Given the description of an element on the screen output the (x, y) to click on. 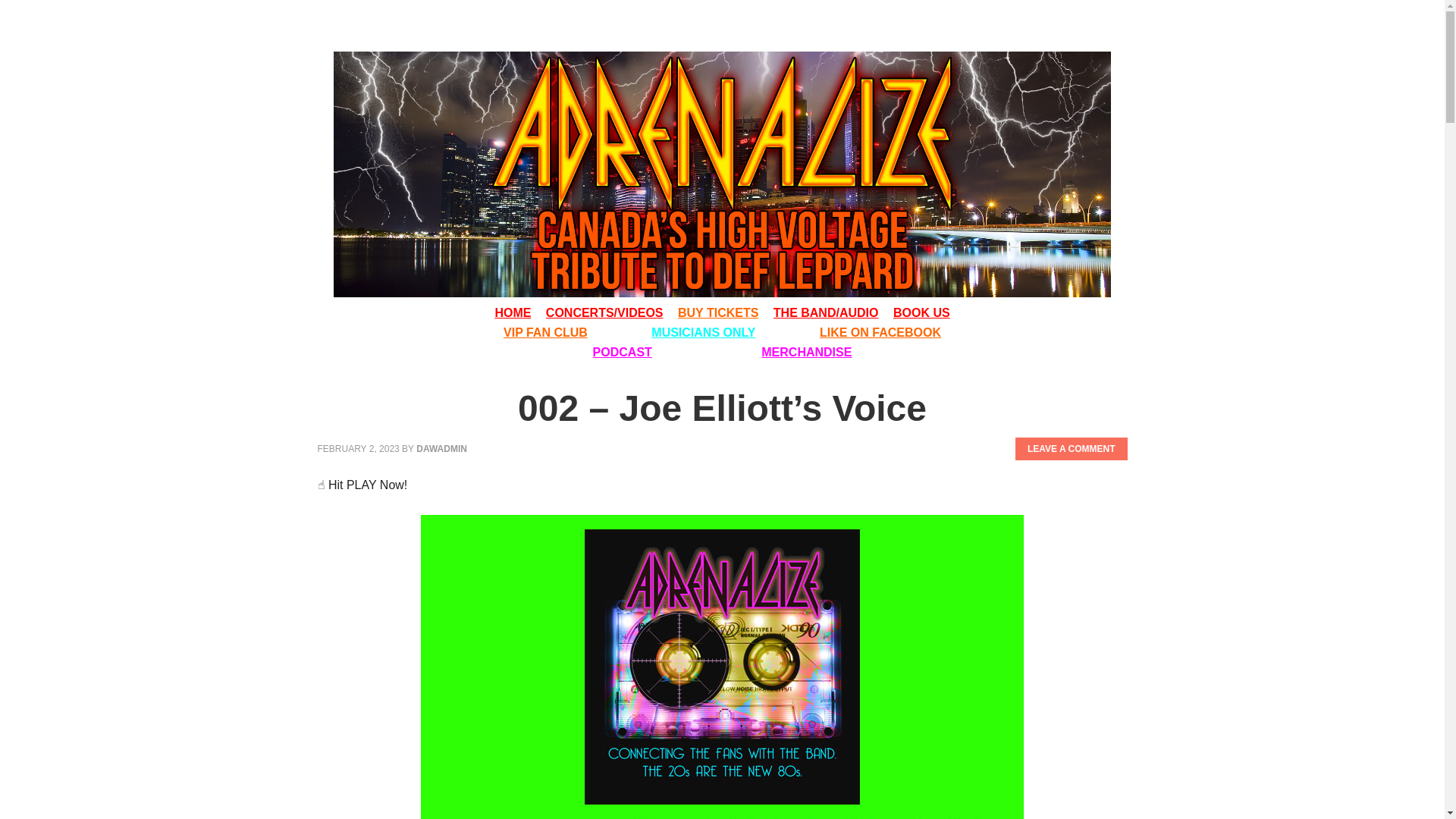
BOOK US (921, 312)
BUY TICKETS (718, 312)
PODCAST (622, 351)
LIKE ON FACEBOOK (879, 332)
LEAVE A COMMENT (1070, 448)
DAWADMIN (441, 448)
VIP FAN CLUB (545, 332)
HOME (513, 312)
MUSICIANS ONLY (702, 332)
MERCHANDISE (806, 351)
